Given the description of an element on the screen output the (x, y) to click on. 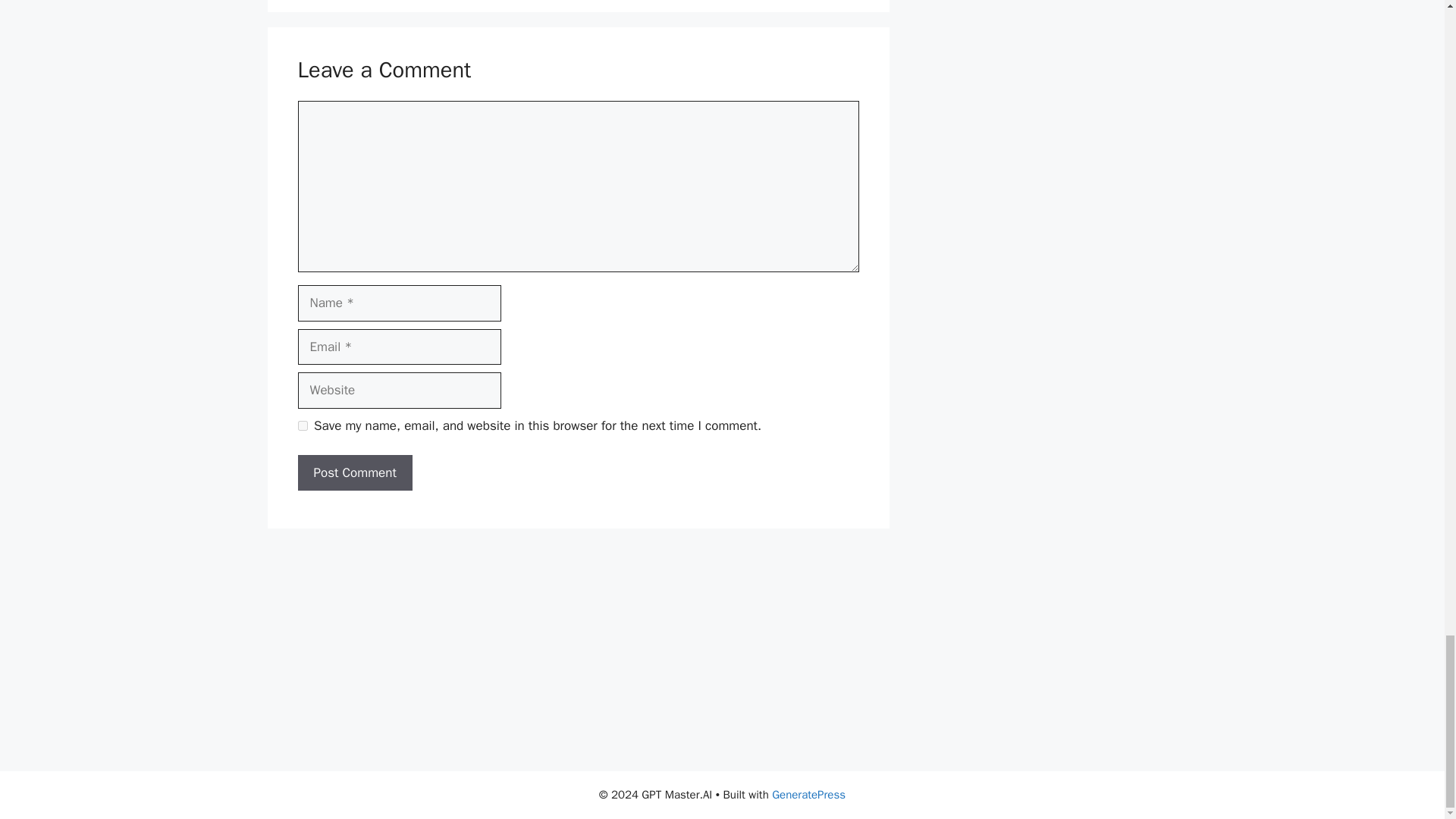
Post Comment (354, 473)
Post Comment (354, 473)
yes (302, 425)
